Given the description of an element on the screen output the (x, y) to click on. 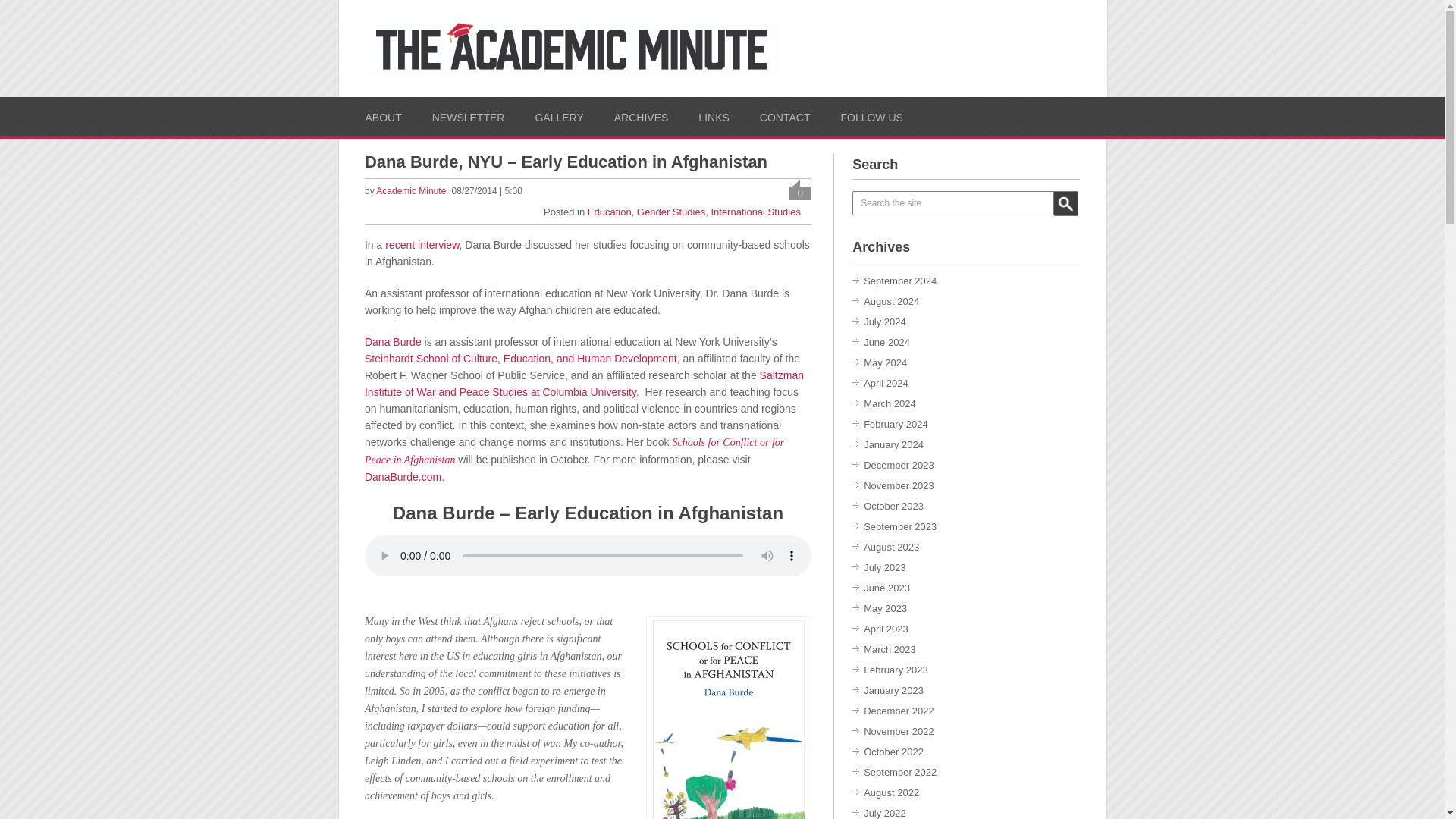
Search the site (952, 202)
FOLLOW US (871, 117)
Search (1066, 203)
ARCHIVES (641, 117)
NEWSLETTER (468, 117)
LINKS (713, 117)
GALLERY (558, 117)
International Studies (755, 211)
Posts by Academic Minute (410, 190)
Gender Studies (670, 211)
